Given the description of an element on the screen output the (x, y) to click on. 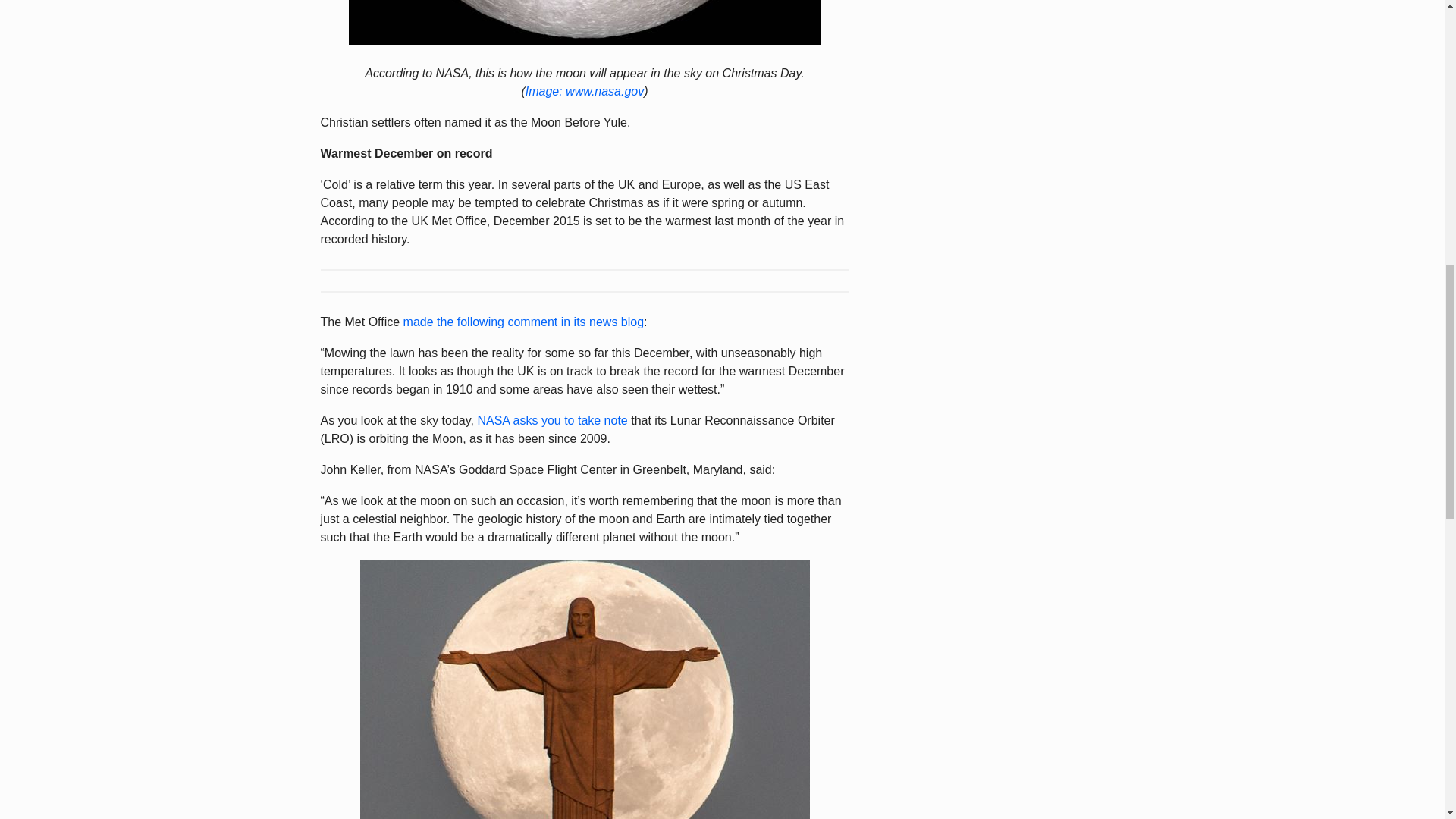
made the following comment in its news blog (524, 321)
Image: www.nasa.gov (585, 91)
NASA asks you to take note (552, 420)
